Given the description of an element on the screen output the (x, y) to click on. 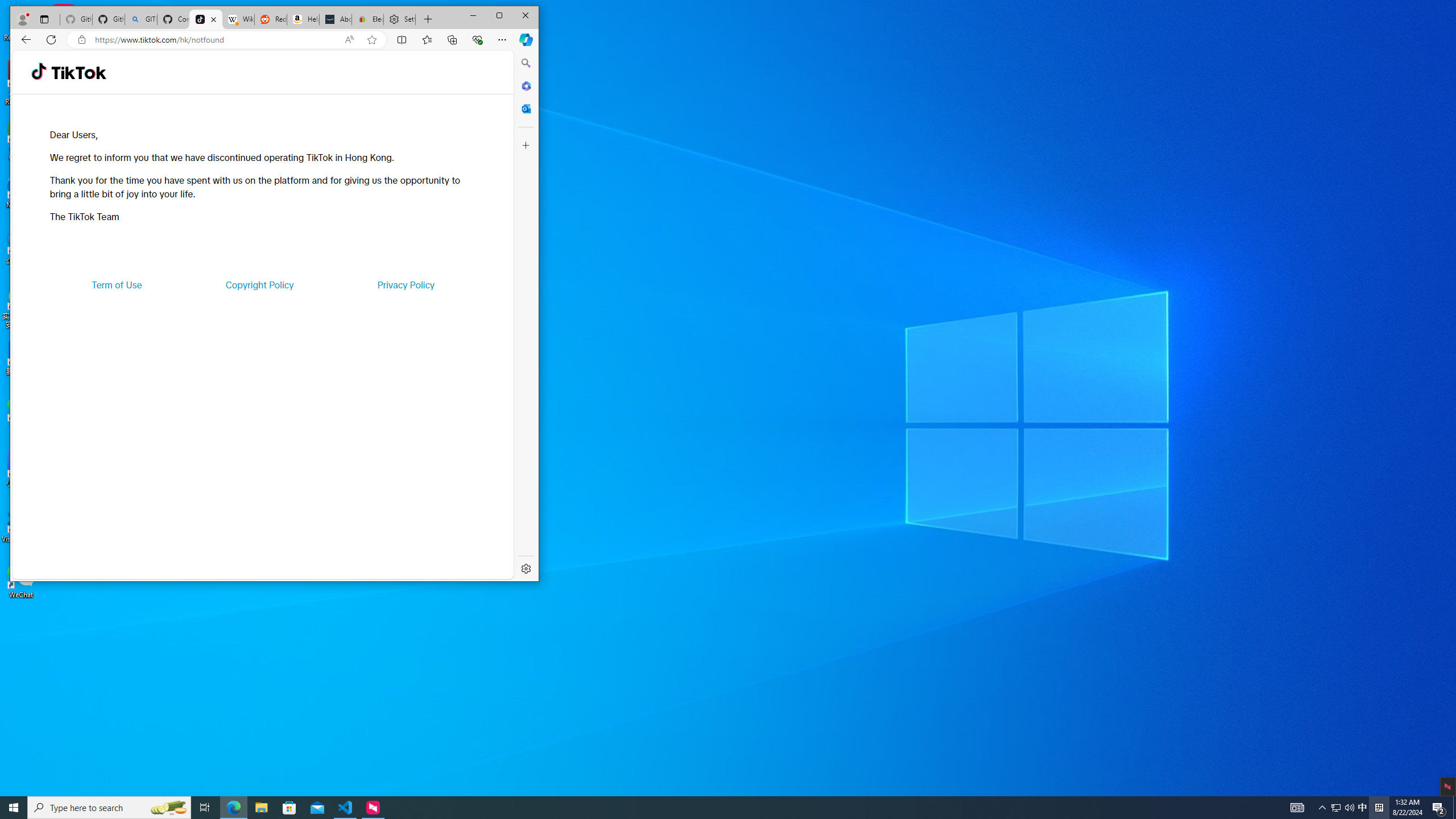
User Promoted Notification Area (1342, 807)
AutomationID: 4105 (1297, 807)
Wikipedia, the free encyclopedia (237, 19)
Maximize (499, 15)
Microsoft Store (289, 807)
GITHUB - Search (140, 19)
Reddit - Dive into anything (269, 19)
Tray Input Indicator - Chinese (Simplified, China) (1378, 807)
